Given the description of an element on the screen output the (x, y) to click on. 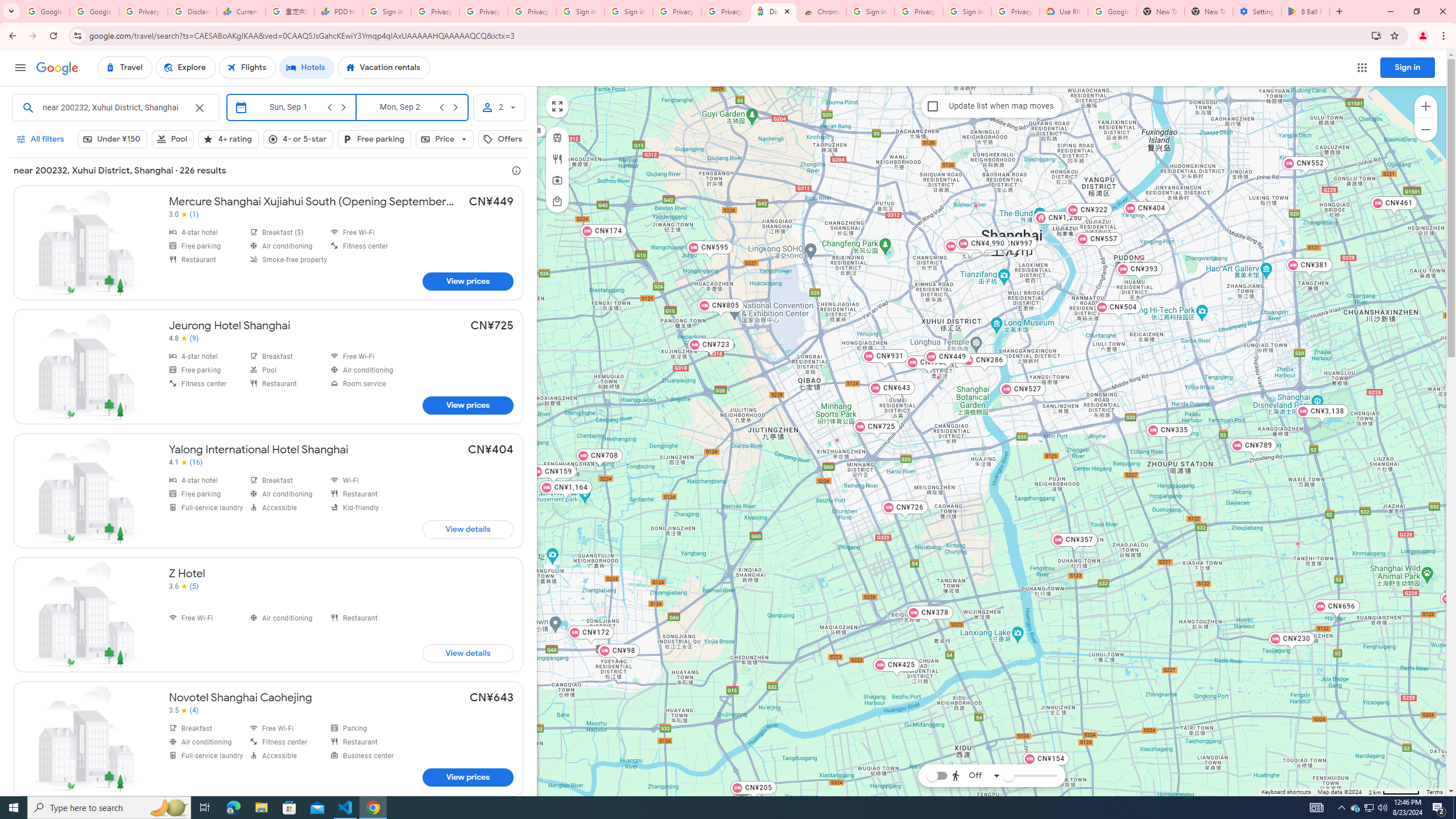
Keyboard shortcuts (1285, 791)
View prices for Yalong International Hotel Shanghai (467, 529)
Walk (972, 718)
Novotel Shanghai Caohejing (268, 739)
Venus International Hotel Shanghai South Shenjiang Road (1297, 543)
Sign in - Google Accounts (966, 11)
